Given the description of an element on the screen output the (x, y) to click on. 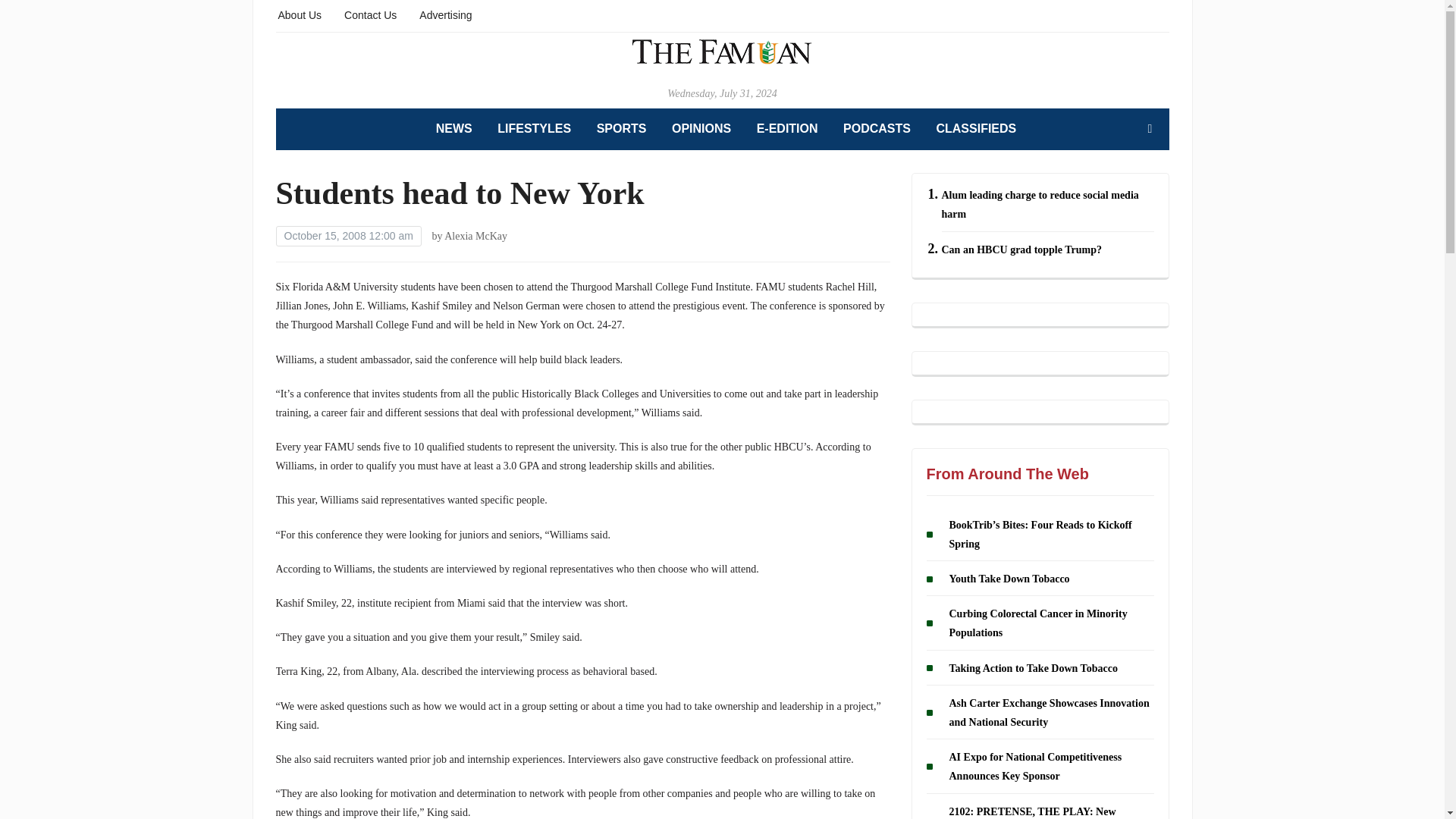
Can an HBCU grad topple Trump? (1022, 249)
Youth Take Down Tobacco (1009, 578)
Curbing Colorectal Cancer in Minority Populations (1037, 623)
SPORTS (621, 128)
PODCASTS (877, 128)
Taking Action to Take Down Tobacco (1033, 668)
CLASSIFIEDS (976, 128)
Contact Us (369, 14)
About Us (299, 14)
NEWS (453, 128)
LIFESTYLES (533, 128)
AI Expo for National Competitiveness Announces Key Sponsor (1035, 766)
AI Expo for National Competitiveness Announces Key Sponsor (1035, 766)
